Given the description of an element on the screen output the (x, y) to click on. 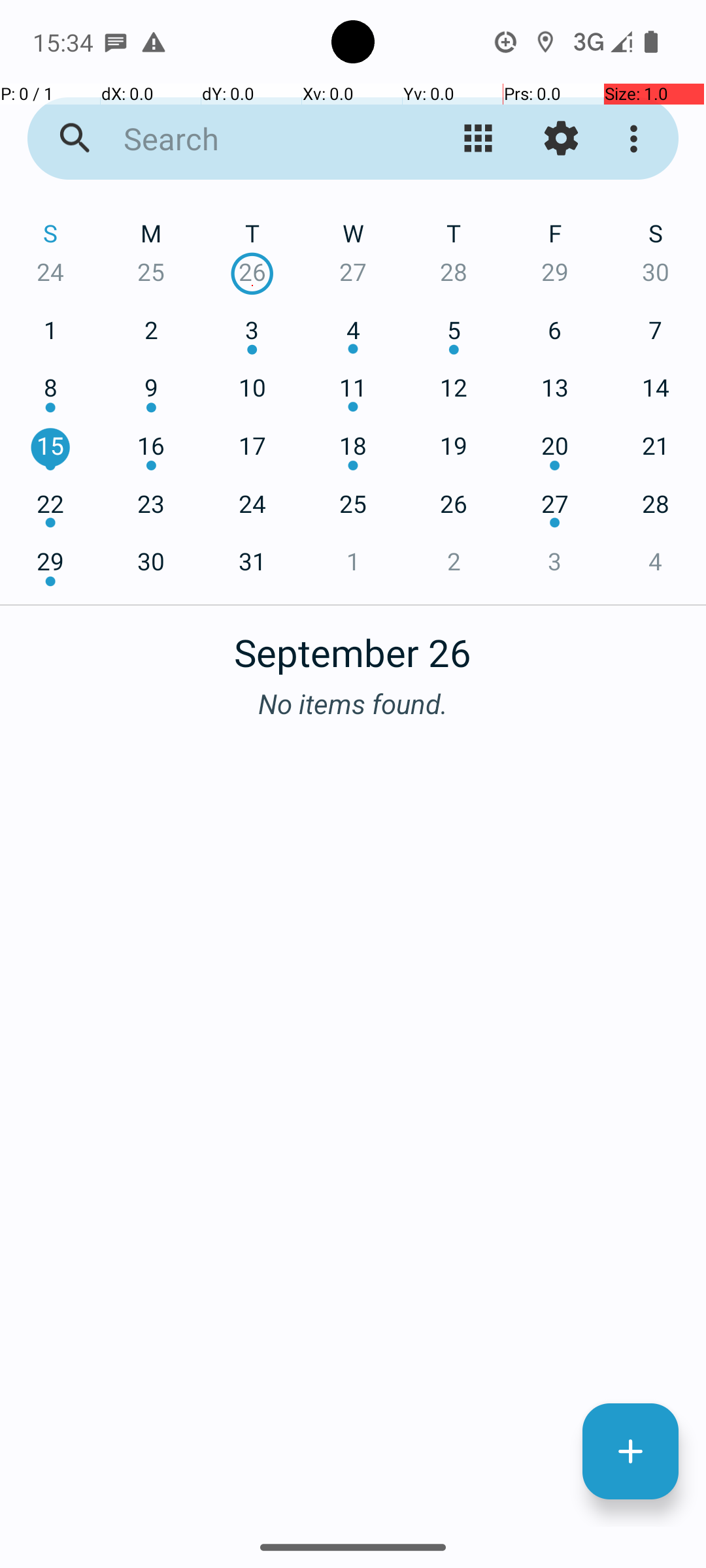
September 26 Element type: android.widget.TextView (352, 644)
